Given the description of an element on the screen output the (x, y) to click on. 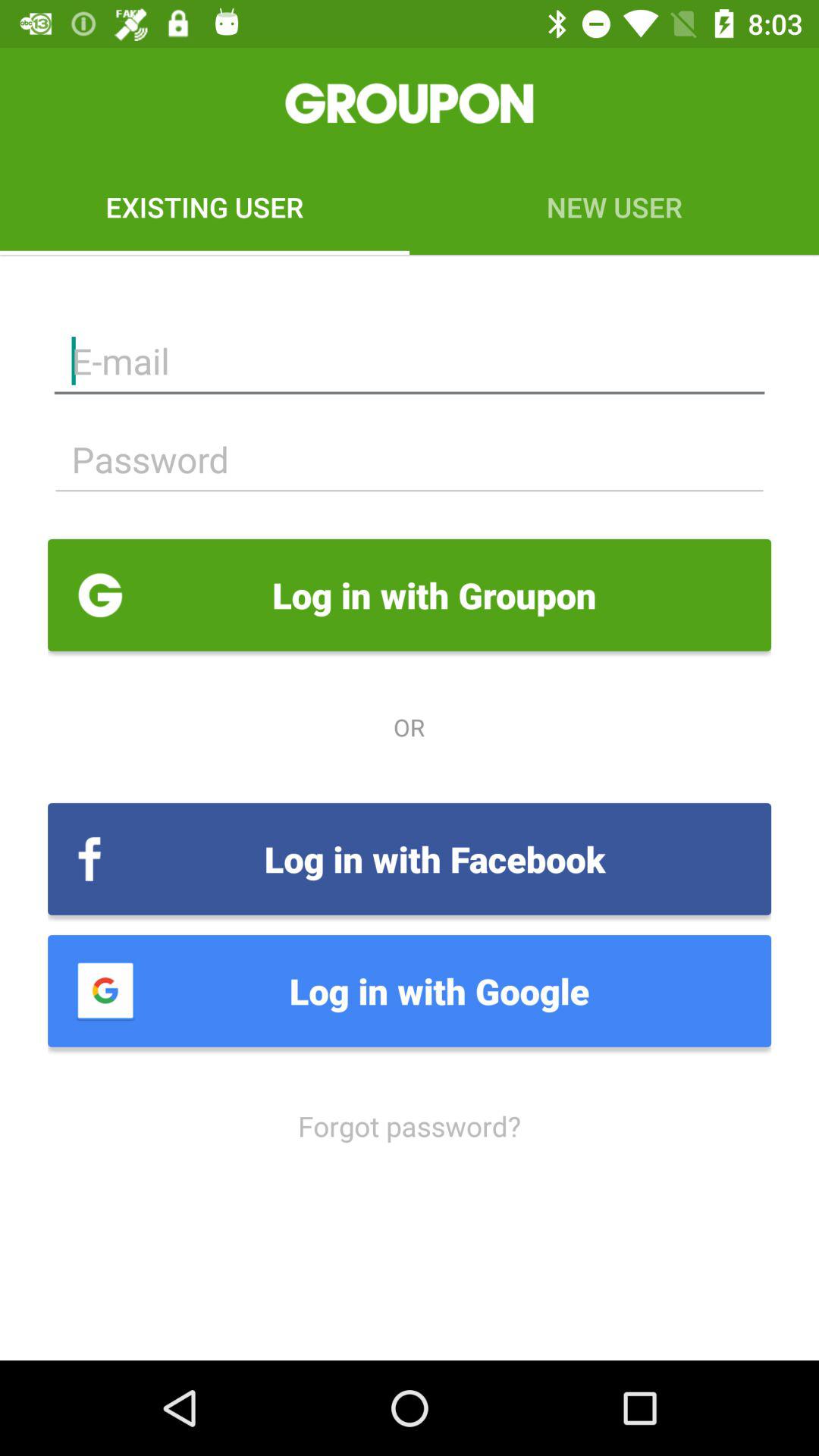
tap app to the left of the new user app (204, 206)
